Given the description of an element on the screen output the (x, y) to click on. 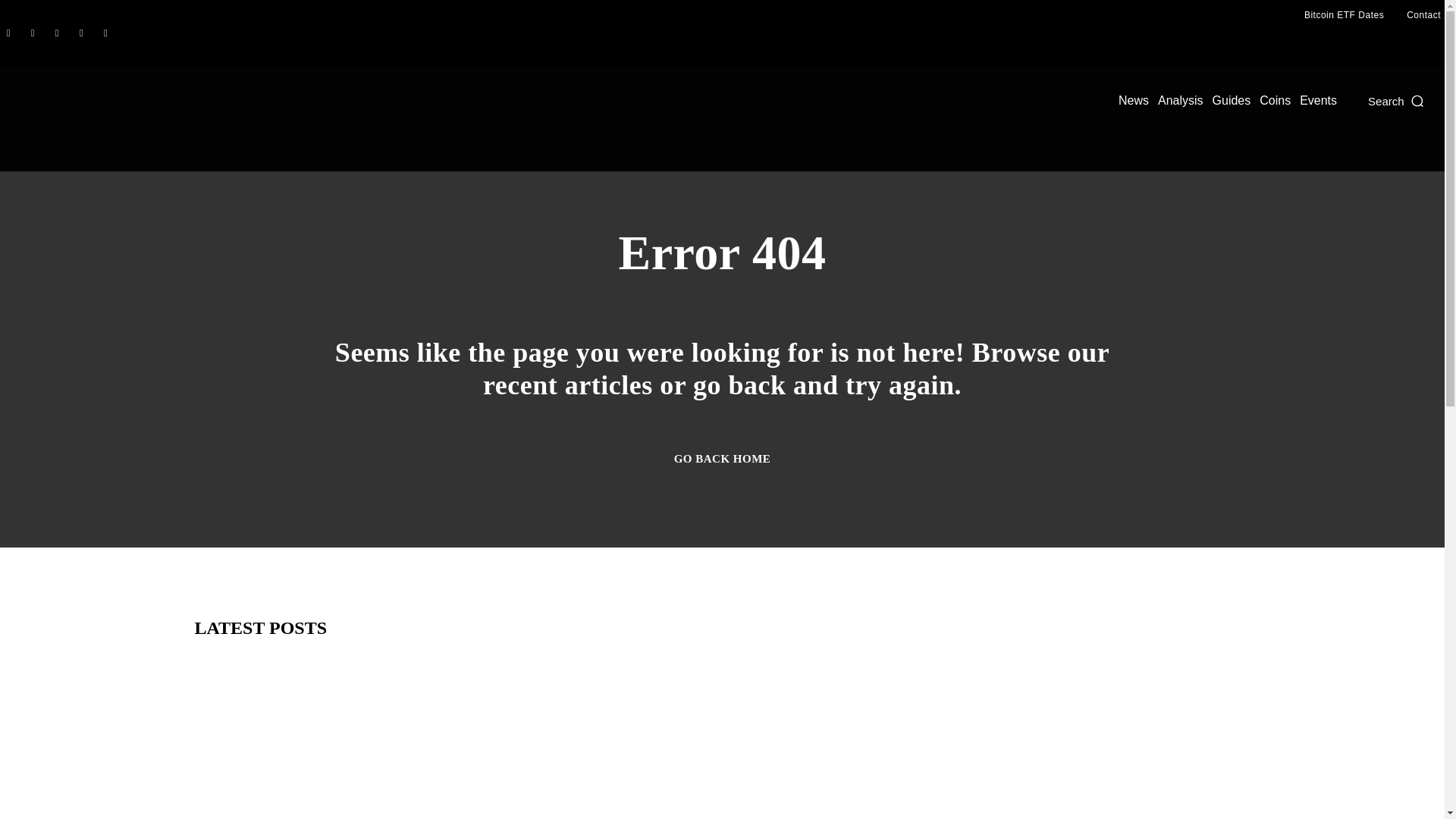
Facebook (8, 33)
Go Back Home (721, 458)
Instagram (32, 33)
NEWS (935, 811)
NEWS (218, 811)
GO BACK HOME (721, 458)
Search (1397, 99)
Telegram (80, 33)
